Given the description of an element on the screen output the (x, y) to click on. 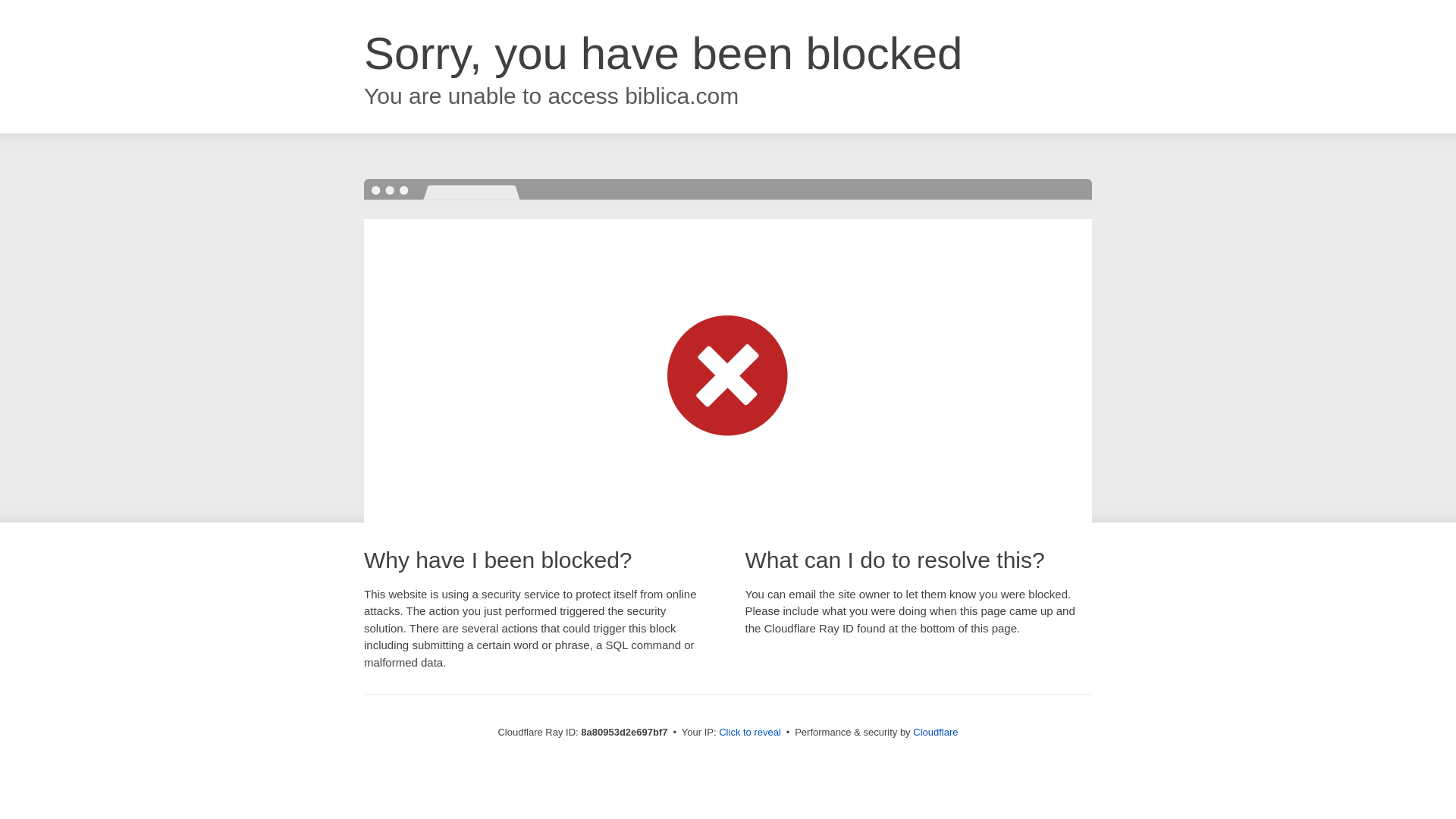
Click to reveal (749, 732)
Cloudflare (935, 731)
